Given the description of an element on the screen output the (x, y) to click on. 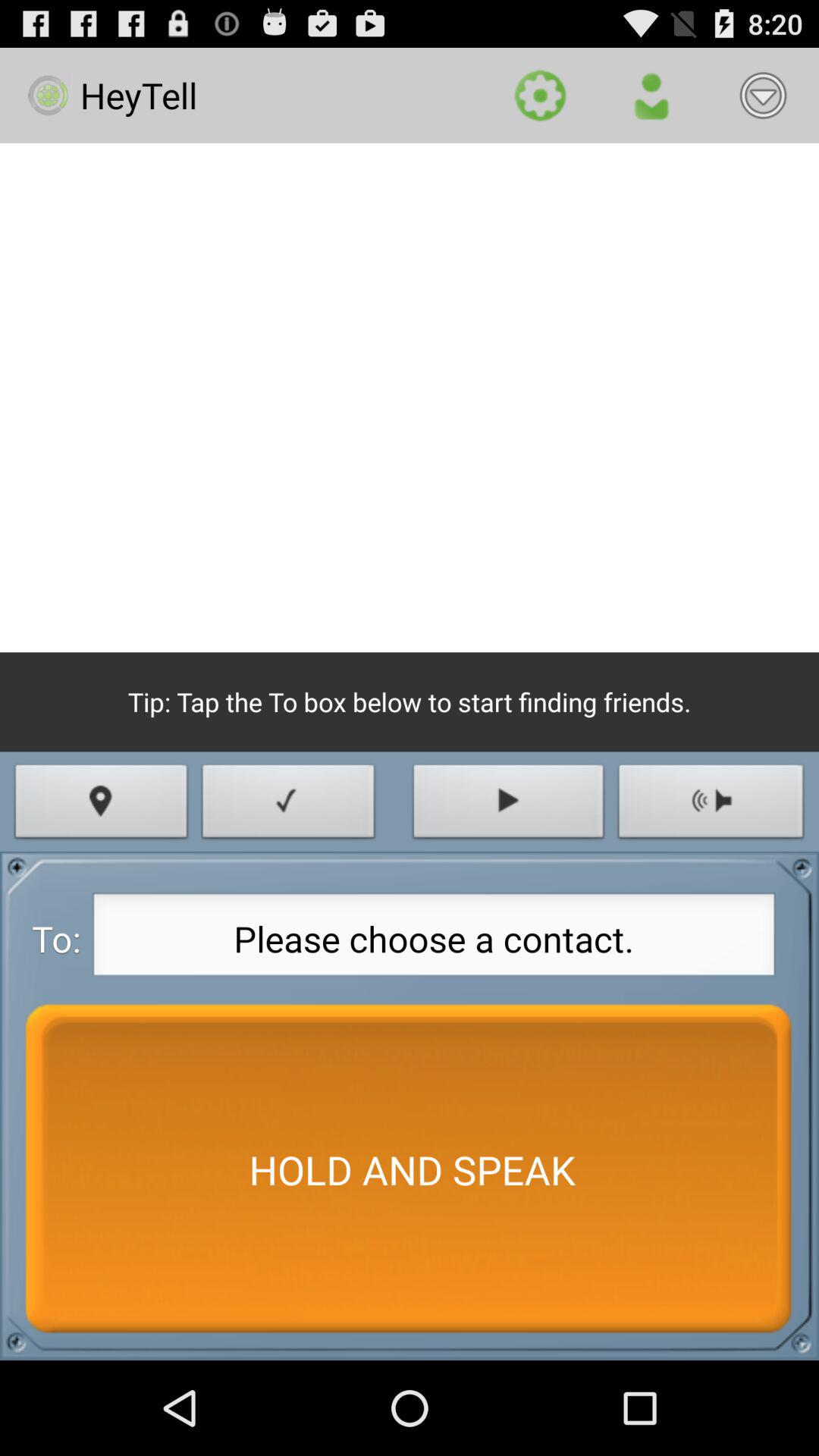
click the item below the tip tap the app (288, 805)
